Given the description of an element on the screen output the (x, y) to click on. 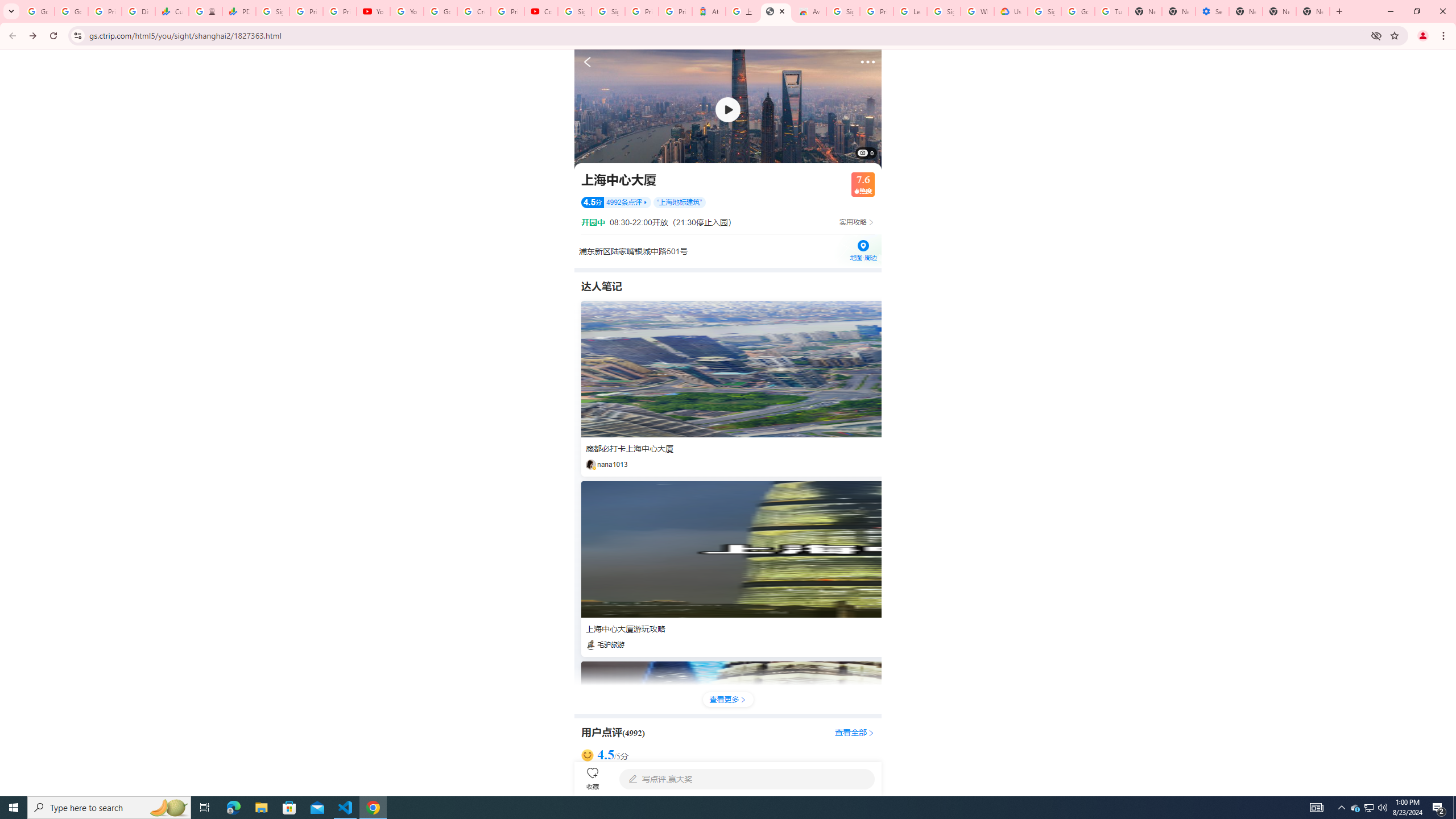
Google Account Help (441, 11)
Turn cookies on or off - Computer - Google Account Help (1111, 11)
Who are Google's partners? - Privacy and conditions - Google (976, 11)
Google Workspace Admin Community (37, 11)
Sign in - Google Accounts (608, 11)
